Given the description of an element on the screen output the (x, y) to click on. 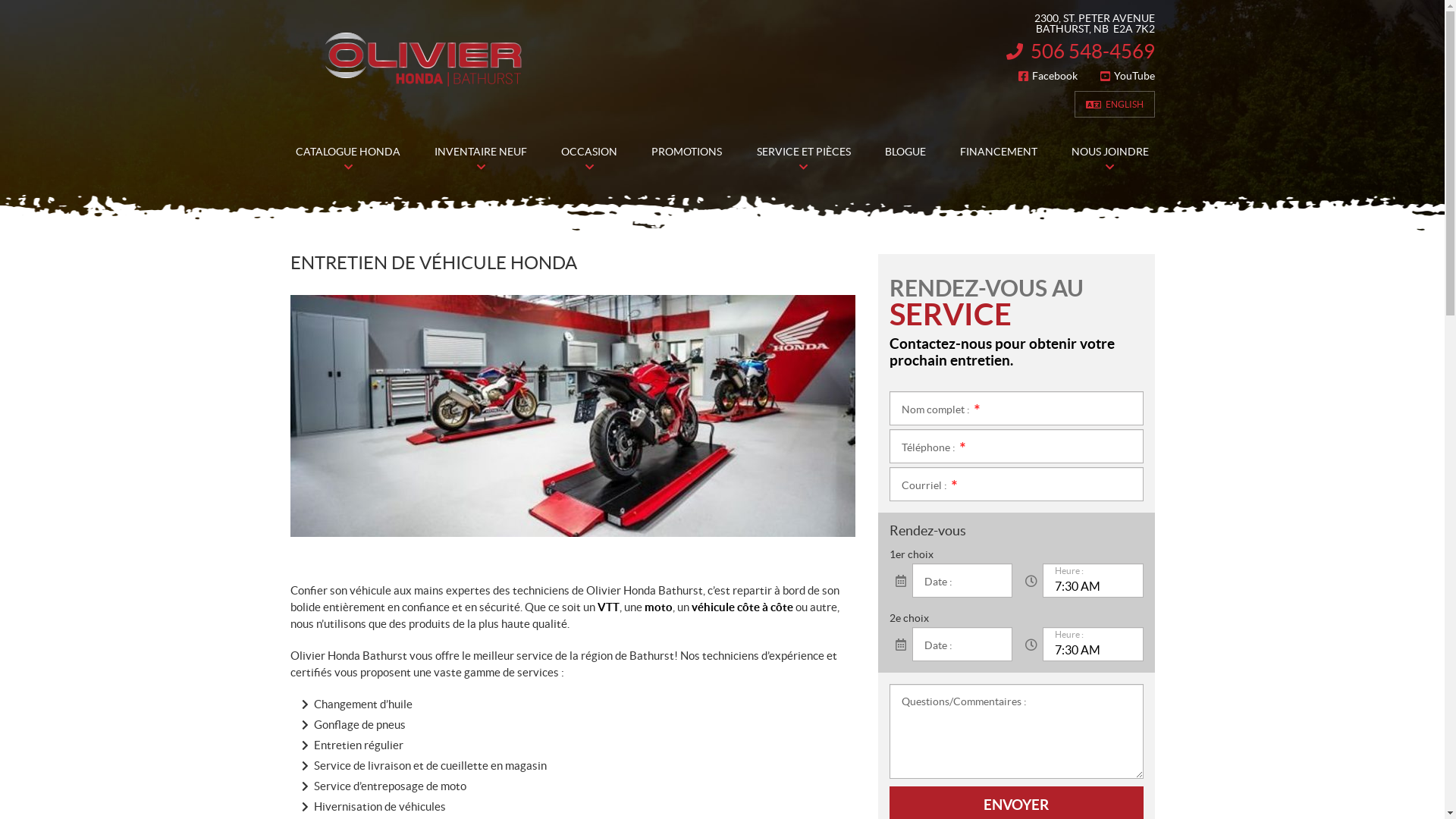
INVENTAIRE NEUF Element type: text (480, 151)
YouTube Element type: text (1126, 75)
OCCASION Element type: text (589, 151)
FINANCEMENT Element type: text (998, 151)
ENGLISH Element type: text (1113, 104)
CATALOGUE HONDA Element type: text (348, 151)
Olivier Honda Bathurst Element type: hover (422, 59)
Facebook Element type: text (1046, 75)
PROMOTIONS Element type: text (686, 151)
NOUS JOINDRE Element type: text (1109, 151)
2300, ST. PETER AVENUE
BATHURST, NB  E2A 7K2 Element type: text (1079, 23)
BLOGUE Element type: text (904, 151)
506 548-4569 Element type: text (1079, 51)
